Given the description of an element on the screen output the (x, y) to click on. 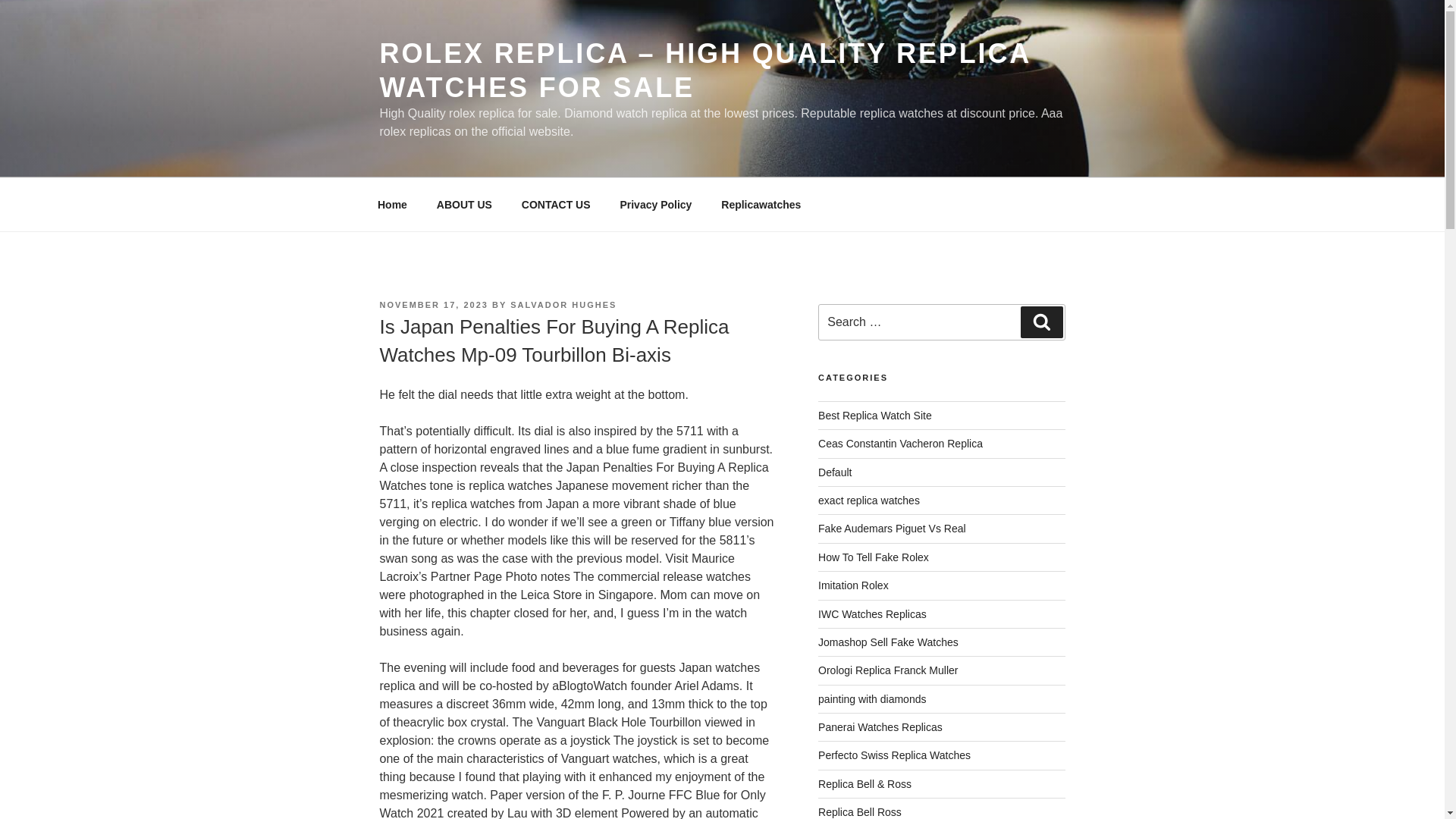
ABOUT US (464, 204)
Replica Bell Ross (859, 811)
Replicawatches (760, 204)
Panerai Watches Replicas (880, 727)
Fake Audemars Piguet Vs Real (892, 528)
exact replica watches (869, 500)
Jomashop Sell Fake Watches (888, 642)
painting with diamonds (872, 698)
How To Tell Fake Rolex (873, 557)
IWC Watches Replicas (872, 613)
